Given the description of an element on the screen output the (x, y) to click on. 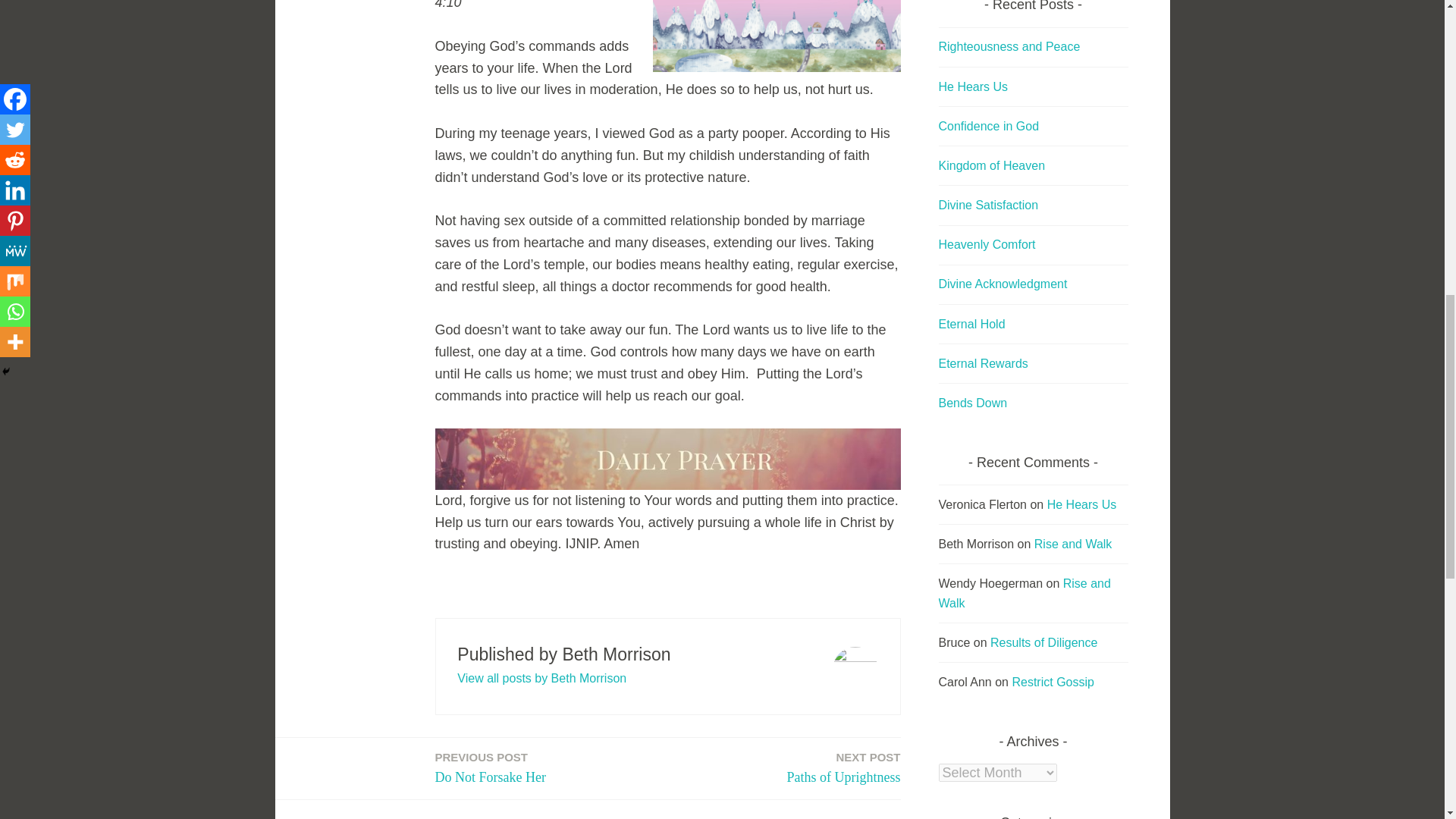
View all posts by Beth Morrison (844, 768)
